Given the description of an element on the screen output the (x, y) to click on. 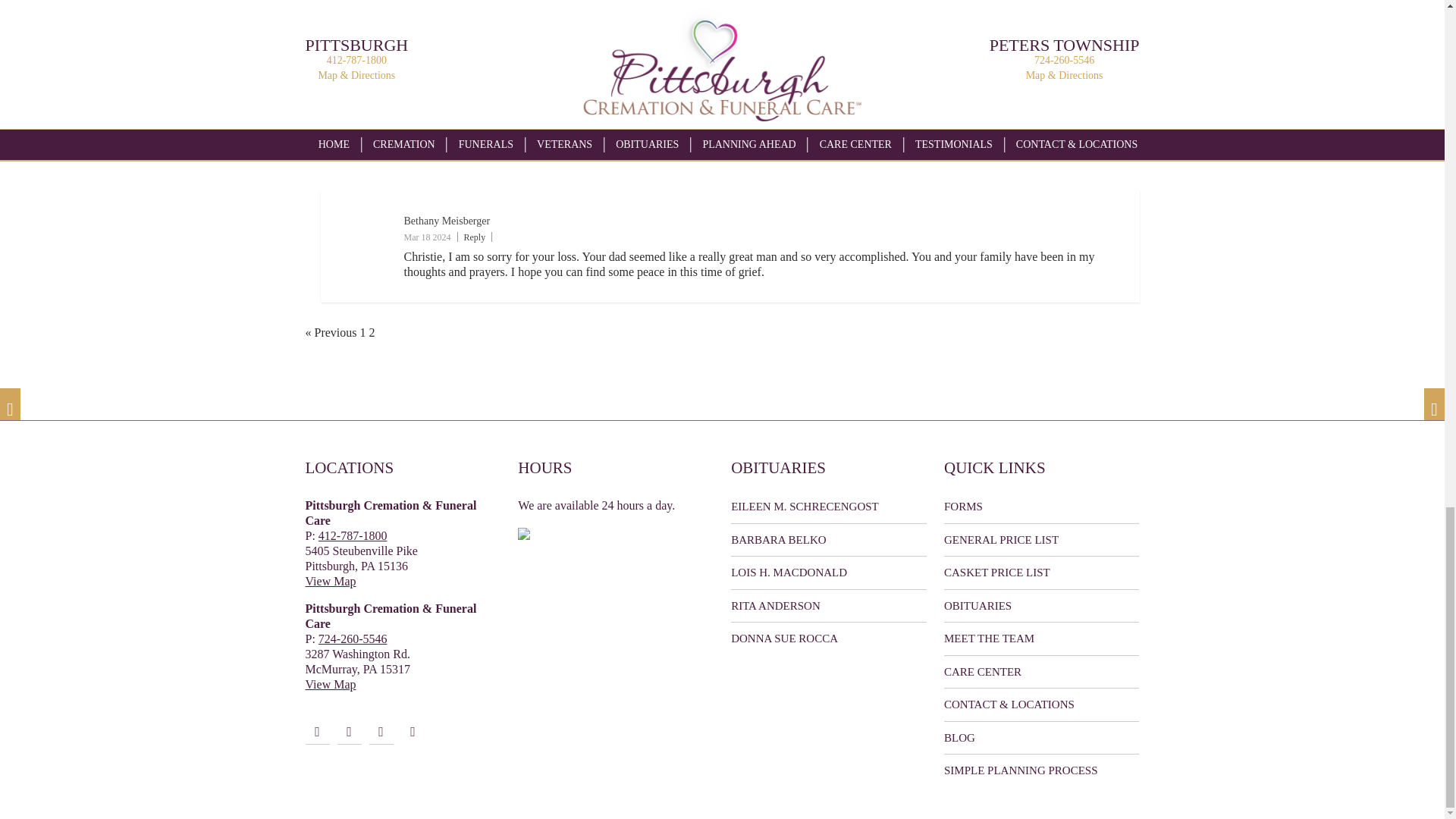
Reply (473, 79)
Mike Lucy (426, 62)
412-787-1800 (352, 535)
Permalink to Barbara Belko (828, 539)
Permalink to Eileen M. Schrecengost (828, 506)
724-260-5546 (352, 638)
Permalink to Rita Anderson (828, 605)
View Map (329, 684)
Bethany Meisberger (446, 220)
Permalink to Lois H. MacDonald (828, 572)
